Given the description of an element on the screen output the (x, y) to click on. 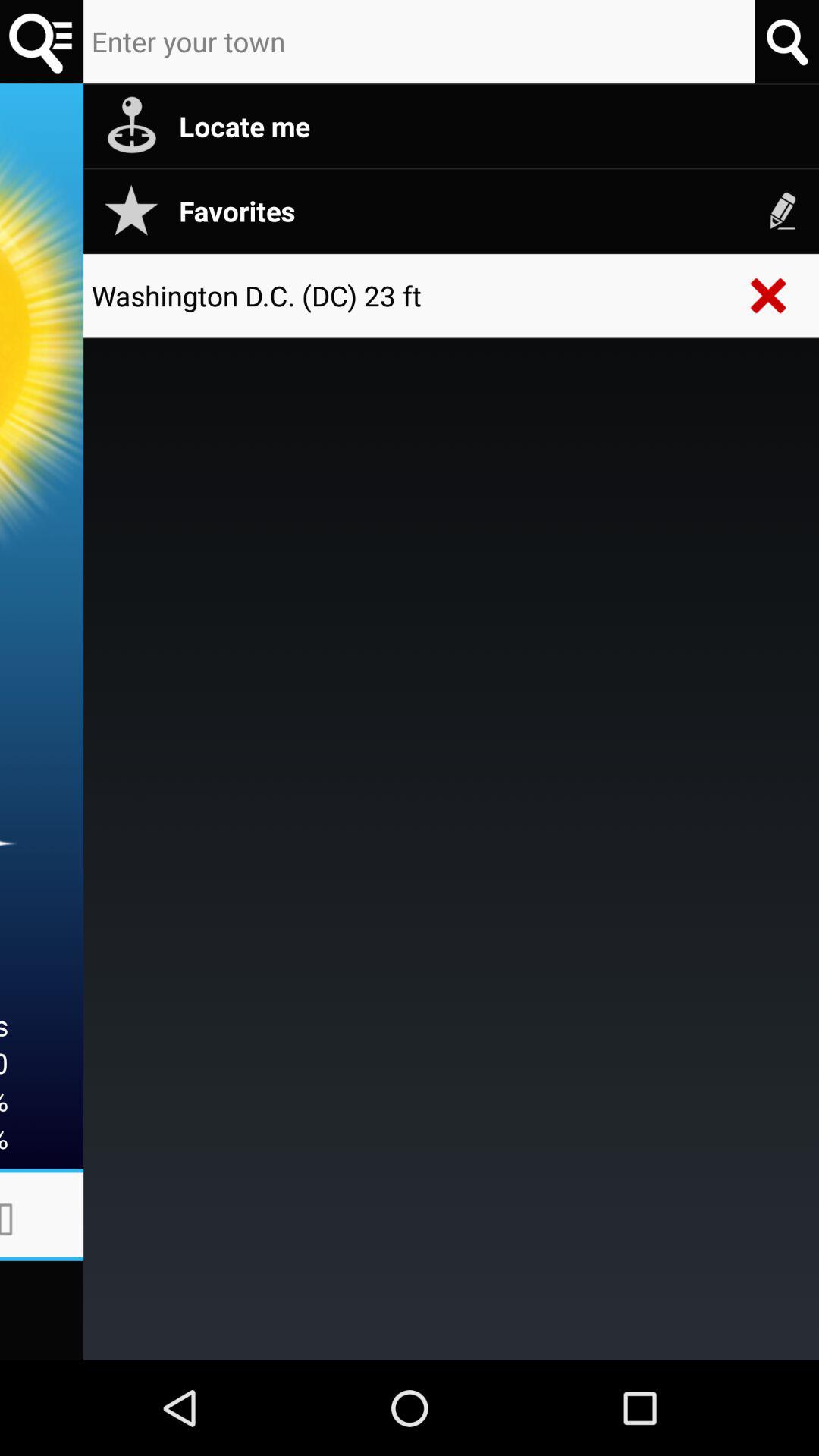
jump to washington d c item (409, 295)
